Given the description of an element on the screen output the (x, y) to click on. 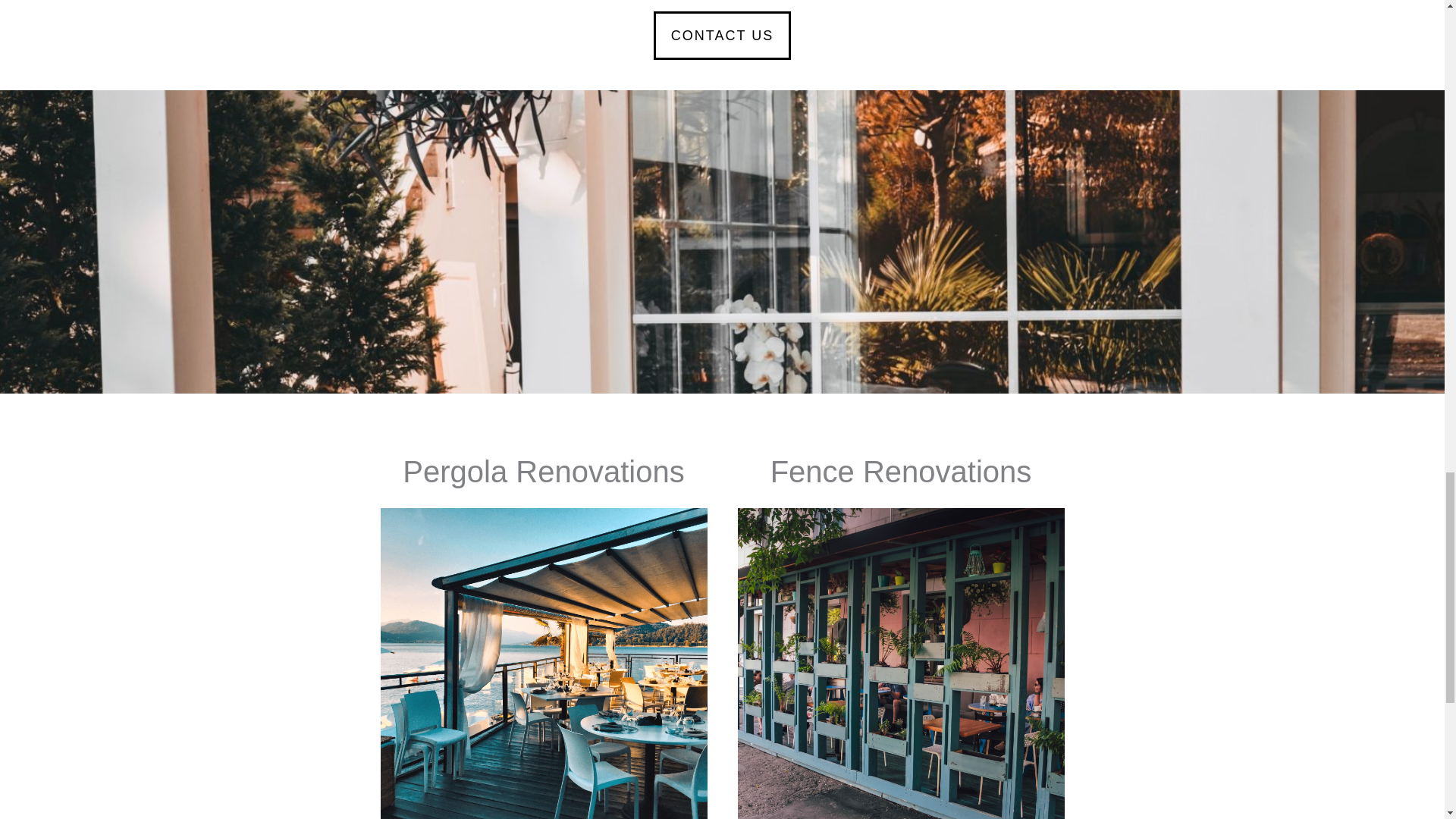
restuarant patio with wooden frame fence (900, 663)
CONTACT US (721, 35)
restuarant patio with pergola (543, 663)
